Given the description of an element on the screen output the (x, y) to click on. 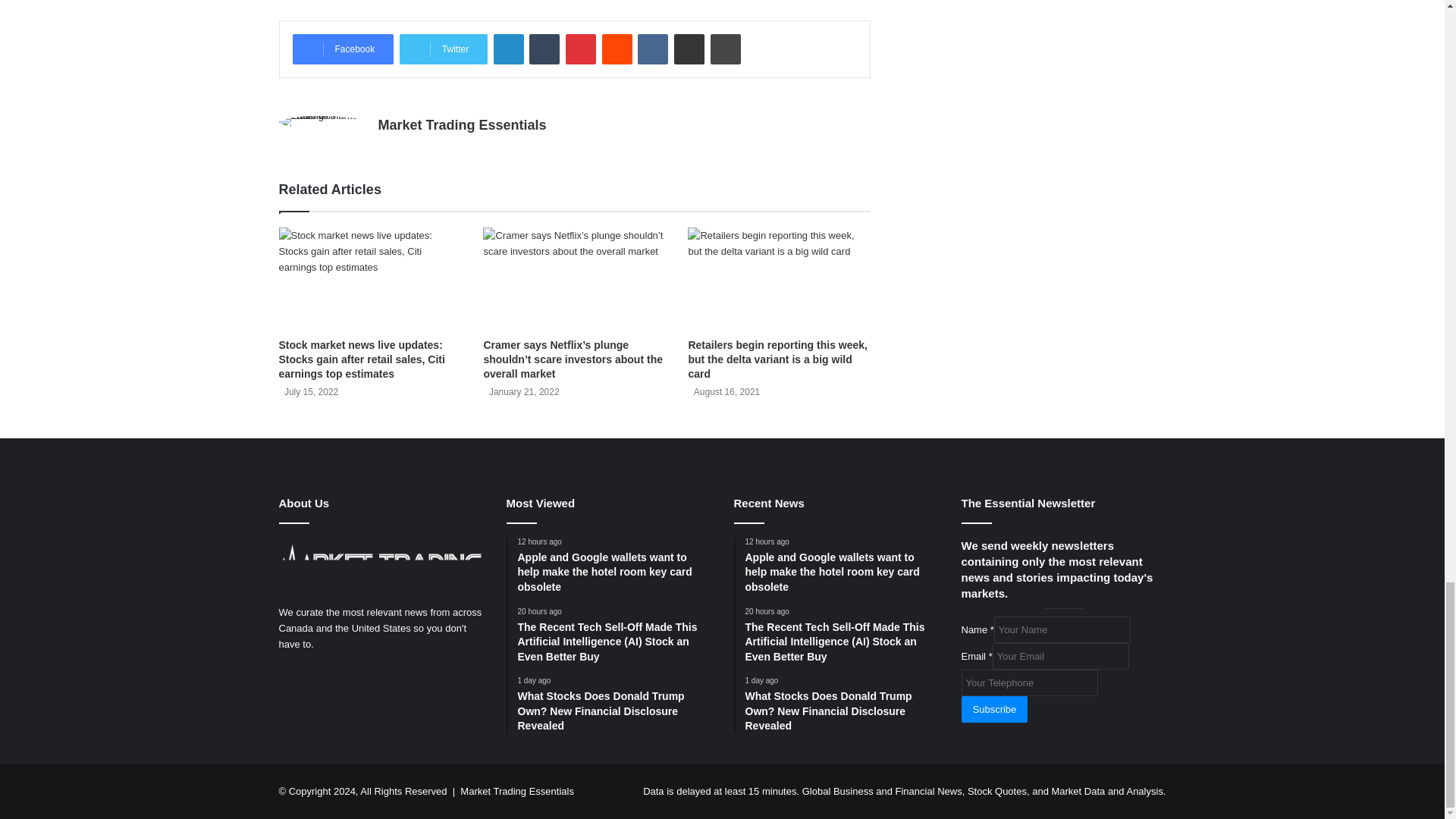
Facebook (343, 49)
Pinterest (580, 49)
Print (725, 49)
VKontakte (652, 49)
LinkedIn (508, 49)
Share via Email (689, 49)
Reddit (616, 49)
Twitter (442, 49)
Tumblr (544, 49)
